Given the description of an element on the screen output the (x, y) to click on. 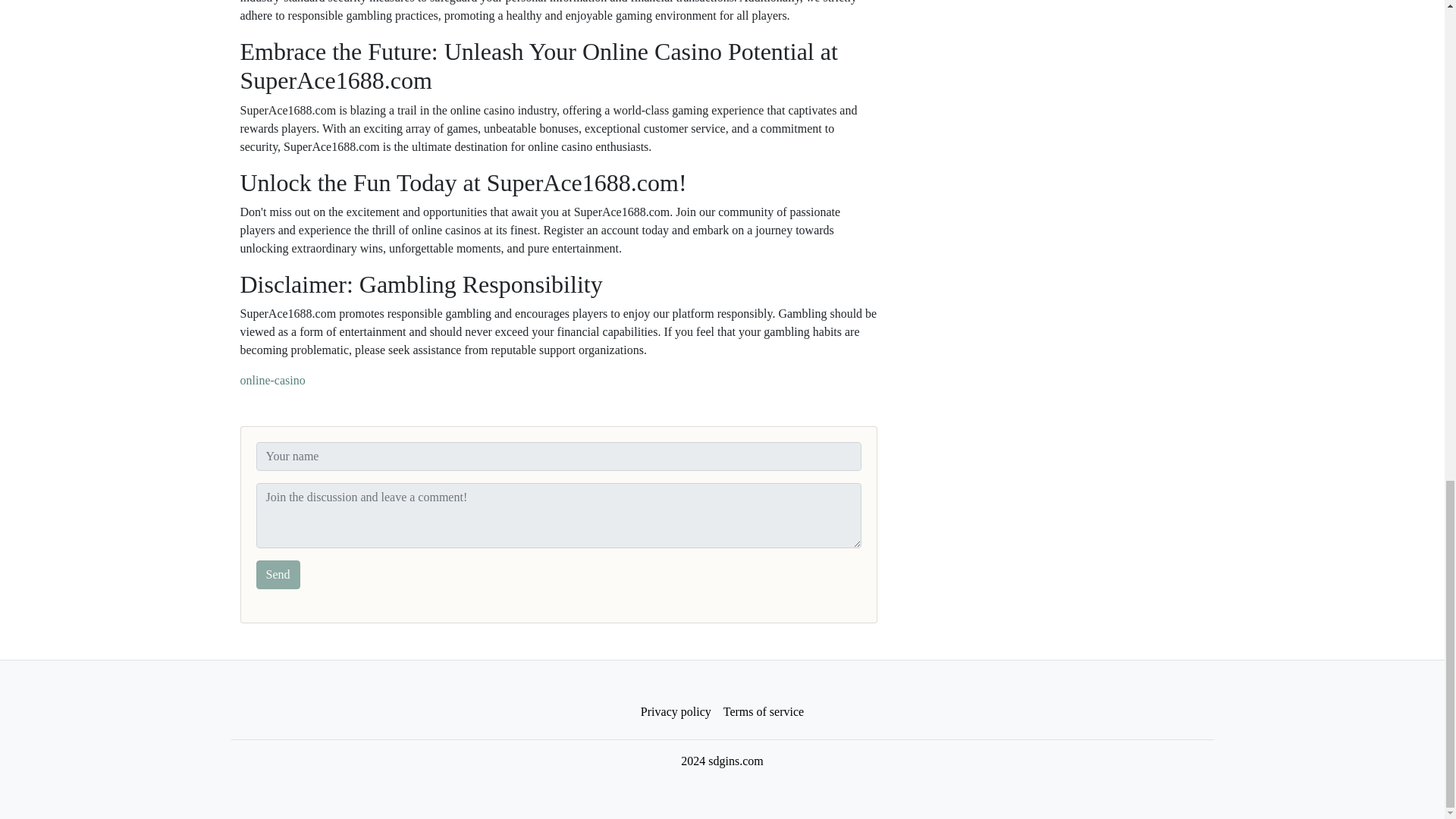
Terms of service (763, 711)
Send (277, 574)
Privacy policy (675, 711)
online-casino (272, 379)
Send (277, 574)
